Given the description of an element on the screen output the (x, y) to click on. 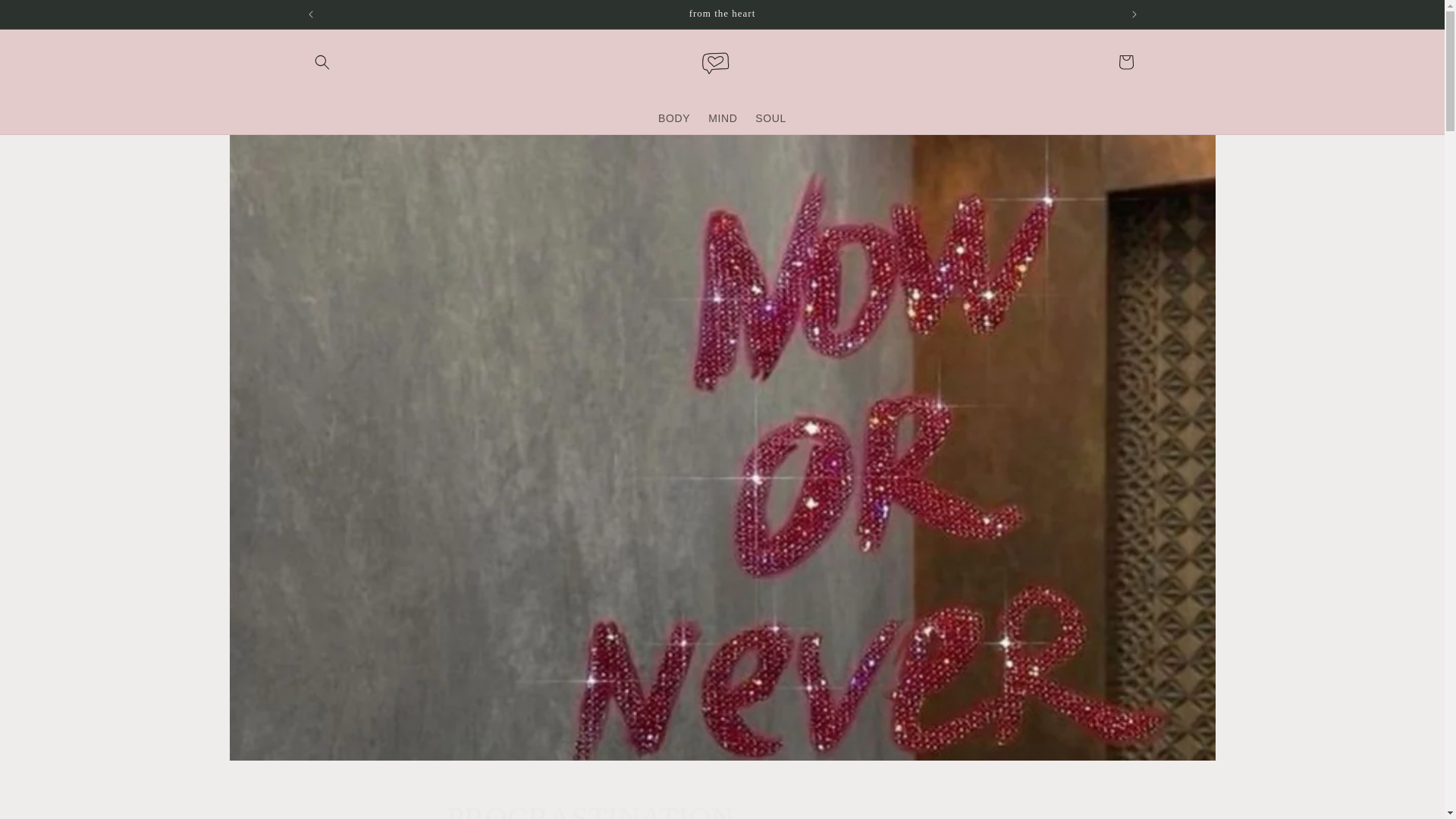
Cart (1124, 61)
Skip to content (45, 17)
BODY (721, 808)
SOUL (673, 117)
MIND (769, 117)
